Given the description of an element on the screen output the (x, y) to click on. 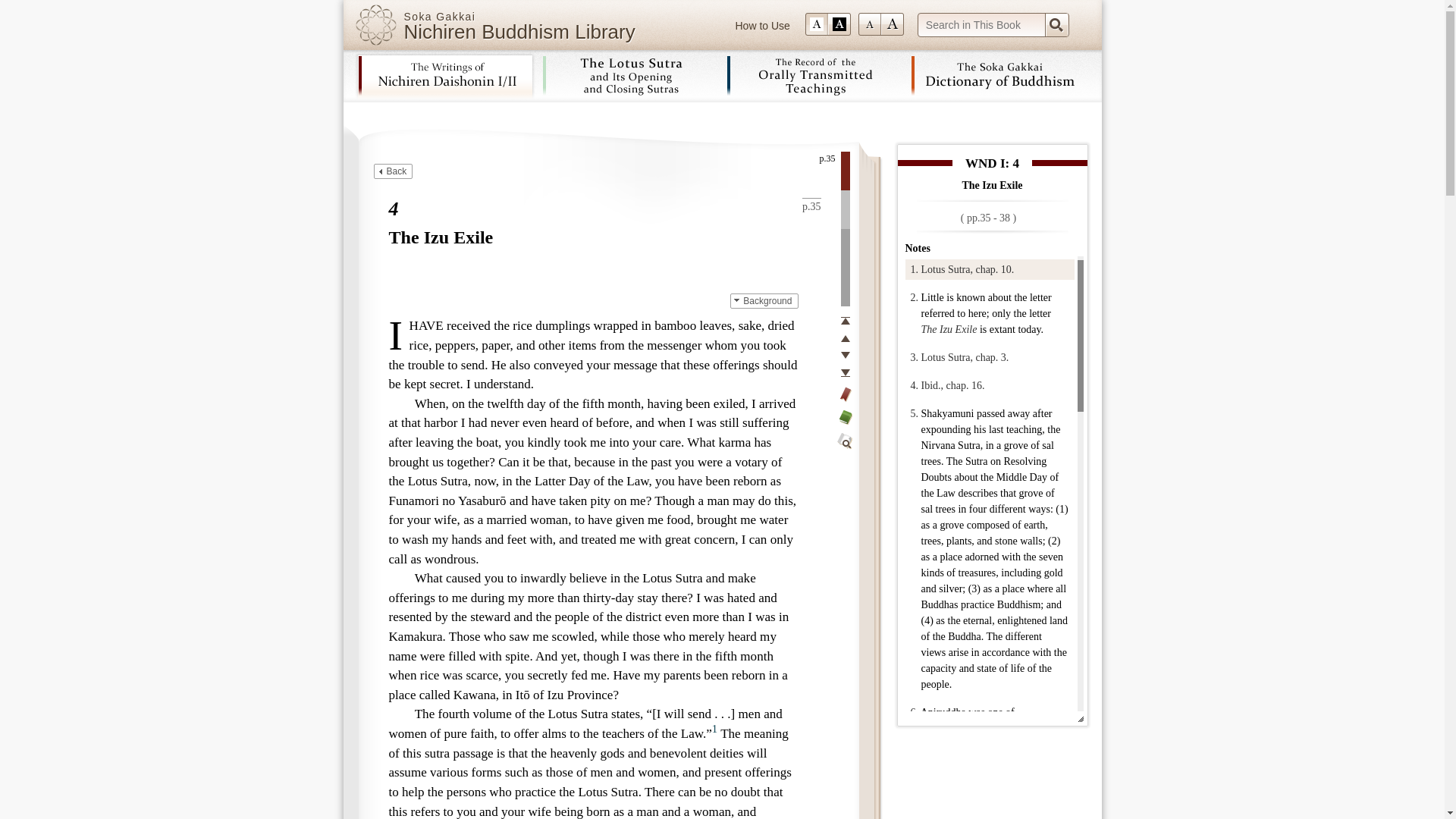
Text Color Normal (816, 24)
Next (844, 355)
Previous (844, 337)
Text Size Small (869, 24)
Top (844, 320)
Previous (844, 337)
Add bookmark (845, 393)
Text Color Reverse (839, 24)
Next (844, 355)
Last (844, 373)
Add bookmark (845, 393)
Navi (1056, 24)
Last (844, 373)
Top (844, 320)
How to Use (762, 25)
